Given the description of an element on the screen output the (x, y) to click on. 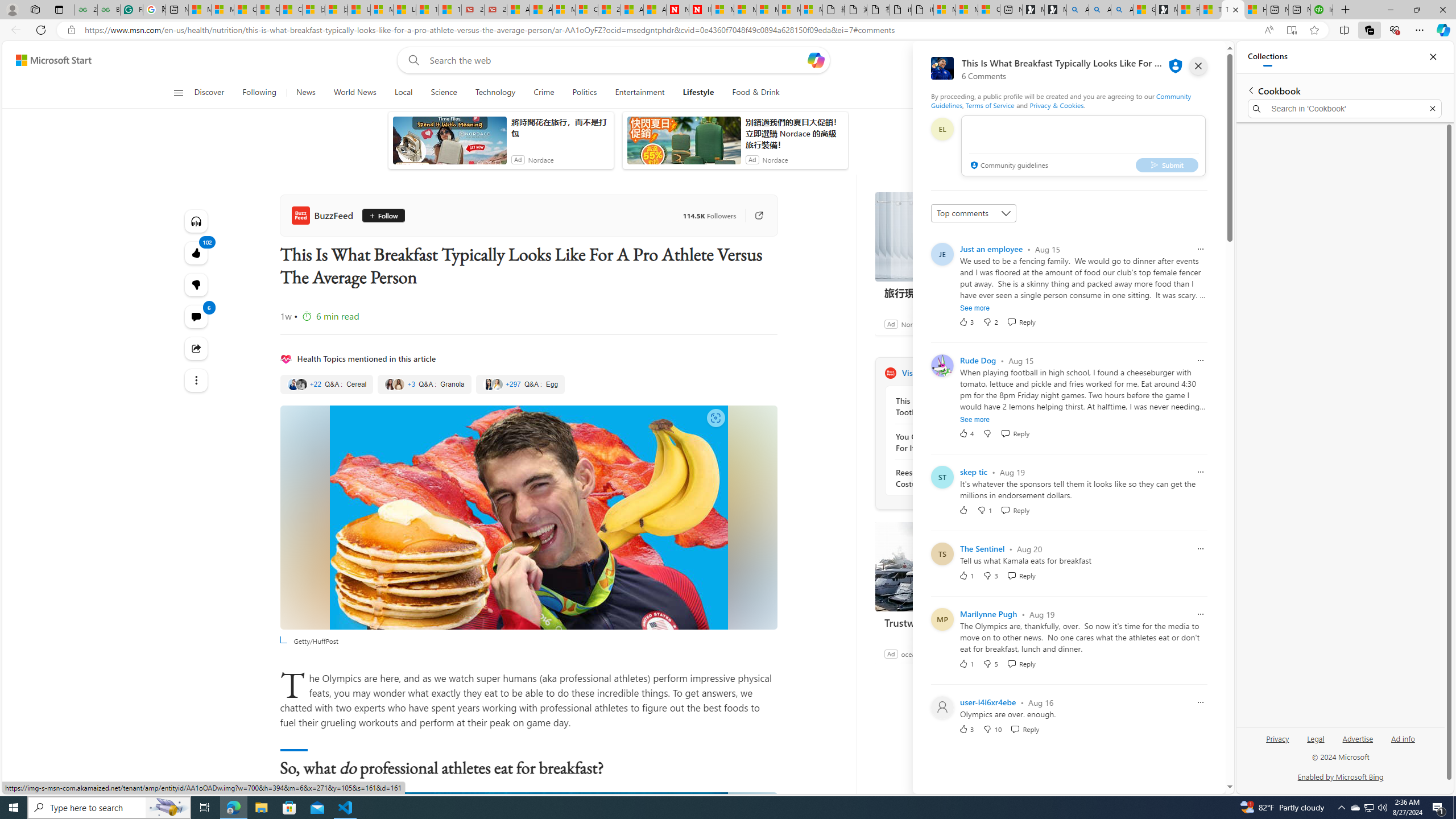
1 Like (965, 663)
Profile Picture (941, 707)
20 Ways to Boost Your Protein Intake at Every Meal (609, 9)
Terms of Service (989, 104)
